Given the description of an element on the screen output the (x, y) to click on. 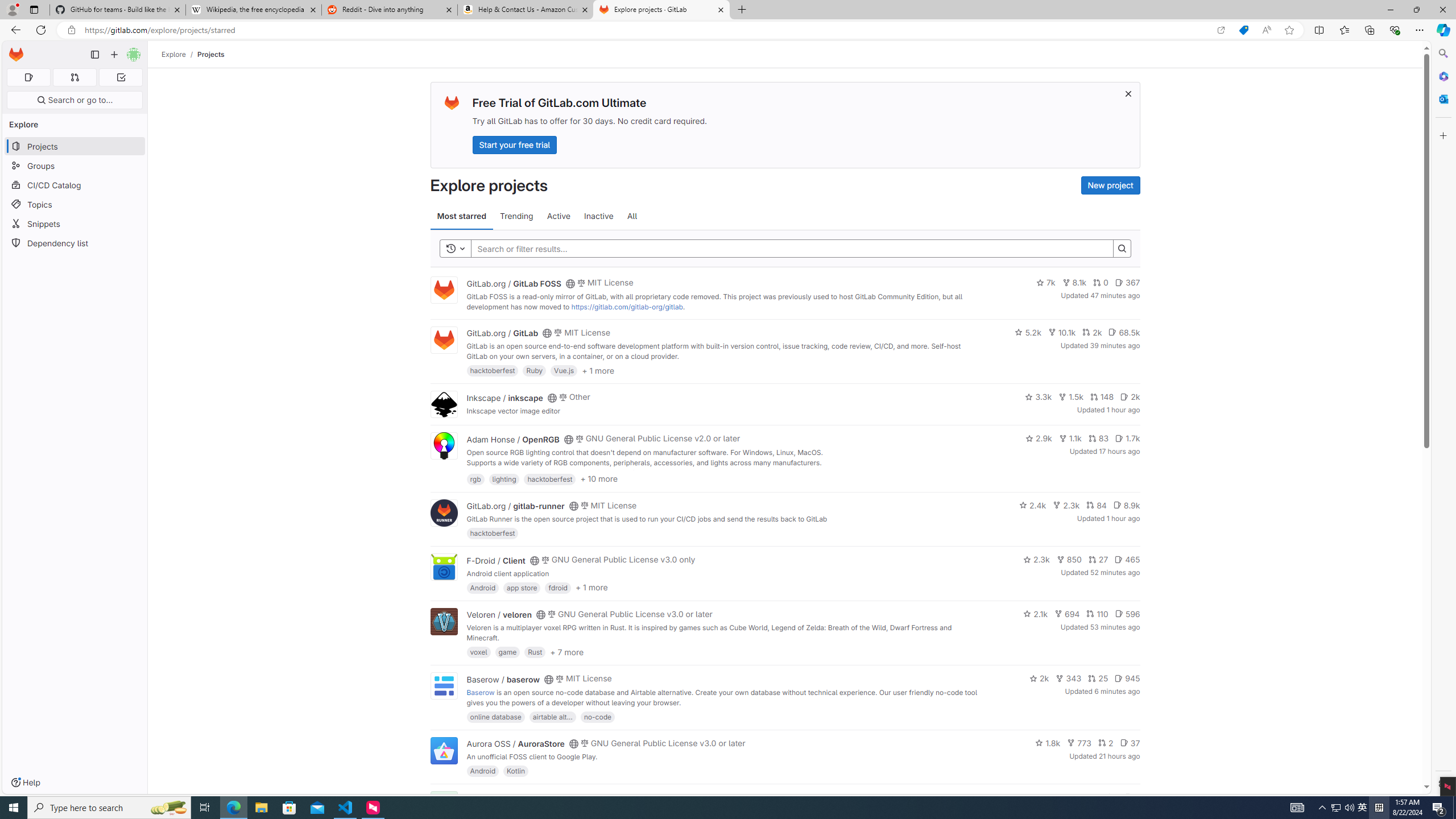
945 (1127, 678)
Rust (535, 651)
rgb (475, 478)
596 (1127, 613)
2.9k (1038, 438)
GitLab.org / gitlab-runner (514, 506)
Topics (74, 203)
7k (1045, 282)
25 (1097, 678)
